Given the description of an element on the screen output the (x, y) to click on. 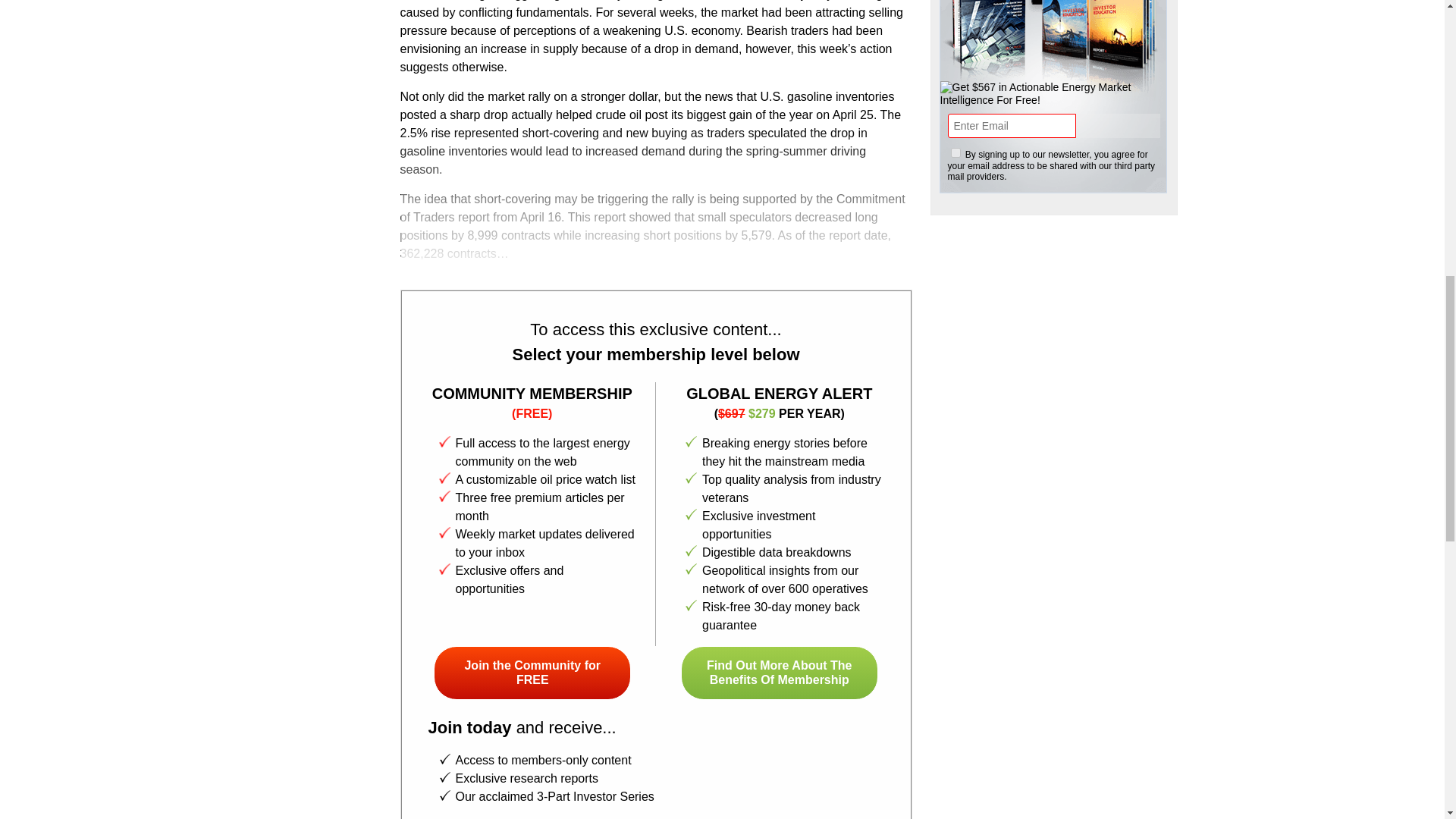
1 (955, 153)
